Given the description of an element on the screen output the (x, y) to click on. 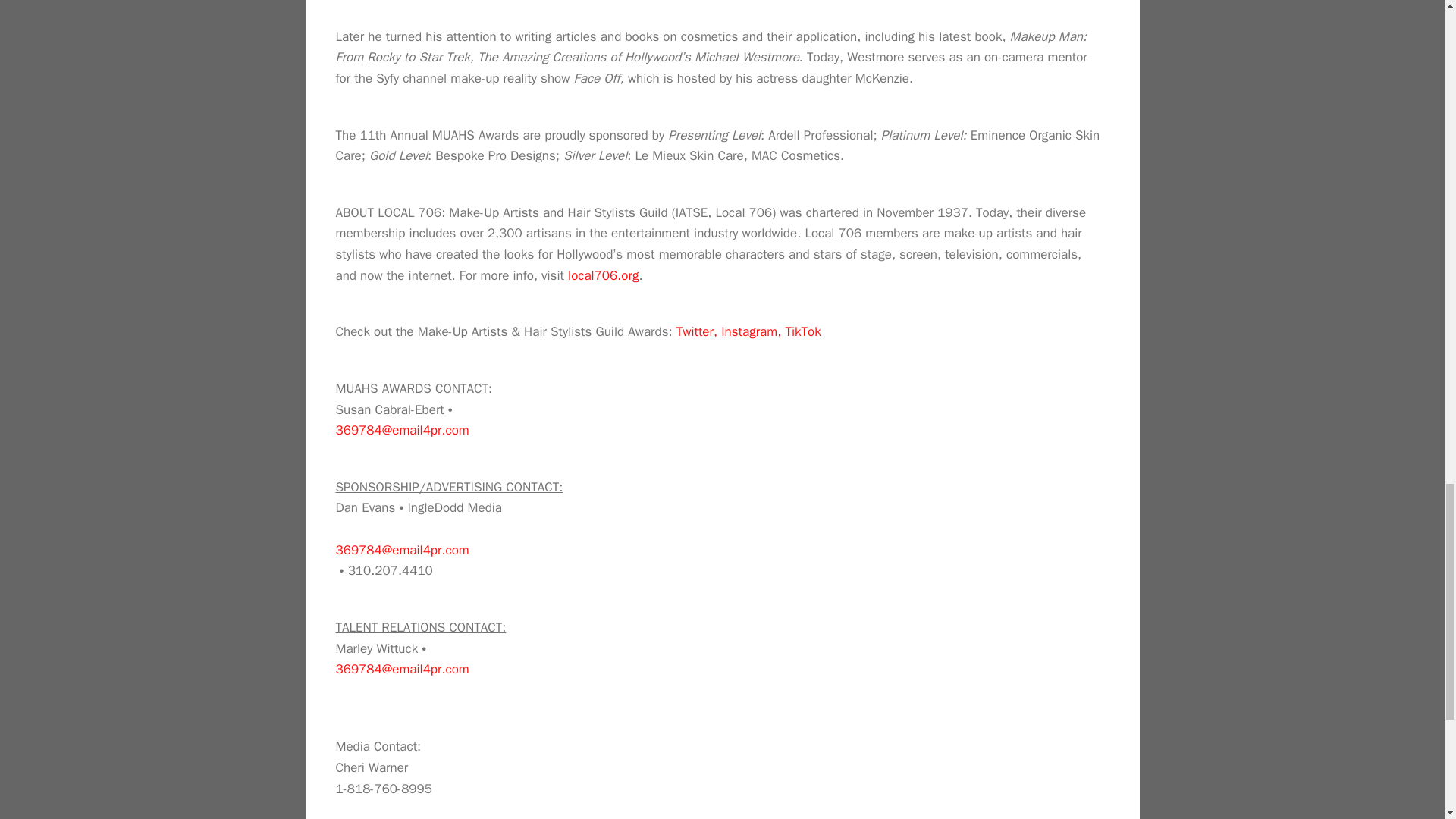
Twitter, (697, 331)
TikTok (802, 331)
local706.org (603, 275)
Instagram, (750, 331)
